Given the description of an element on the screen output the (x, y) to click on. 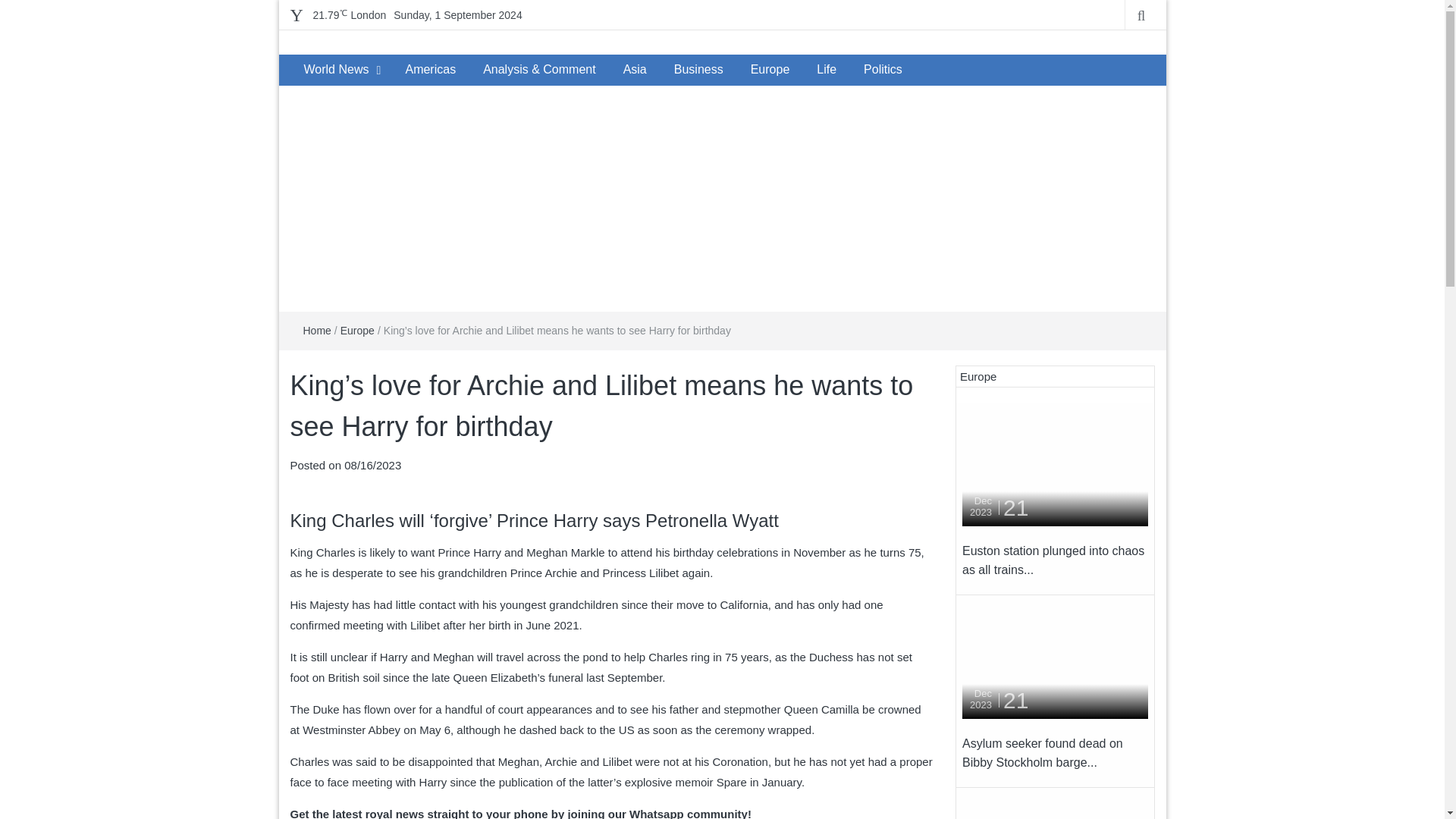
Euston station plunged into chaos as all trains cancelled (1053, 560)
Politics (882, 69)
Search (15, 6)
Home (316, 330)
Asia (635, 69)
Clouds (349, 14)
Life (826, 69)
World News (335, 69)
Europe (769, 69)
